Given the description of an element on the screen output the (x, y) to click on. 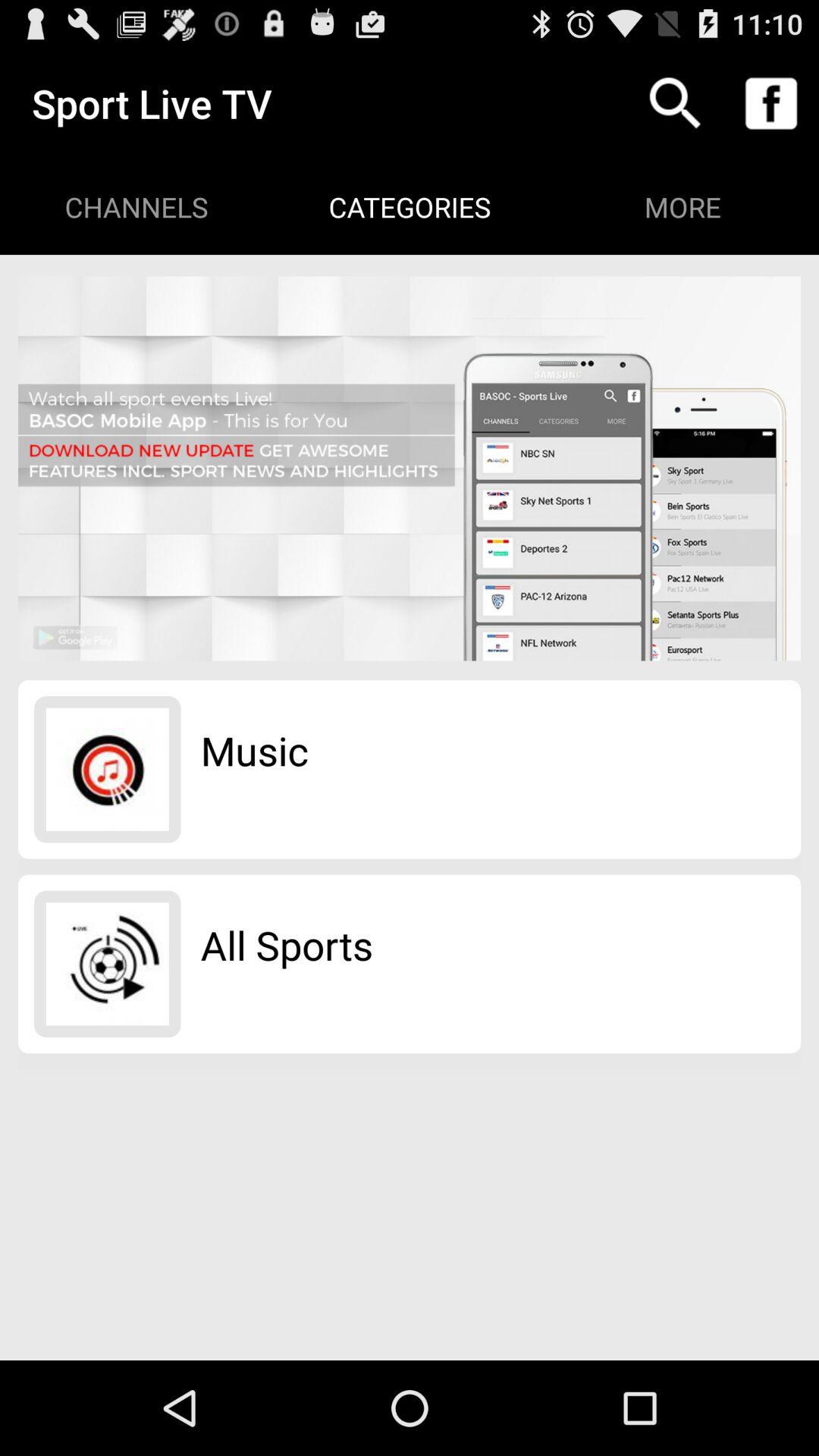
click the all sports at the center (286, 944)
